Given the description of an element on the screen output the (x, y) to click on. 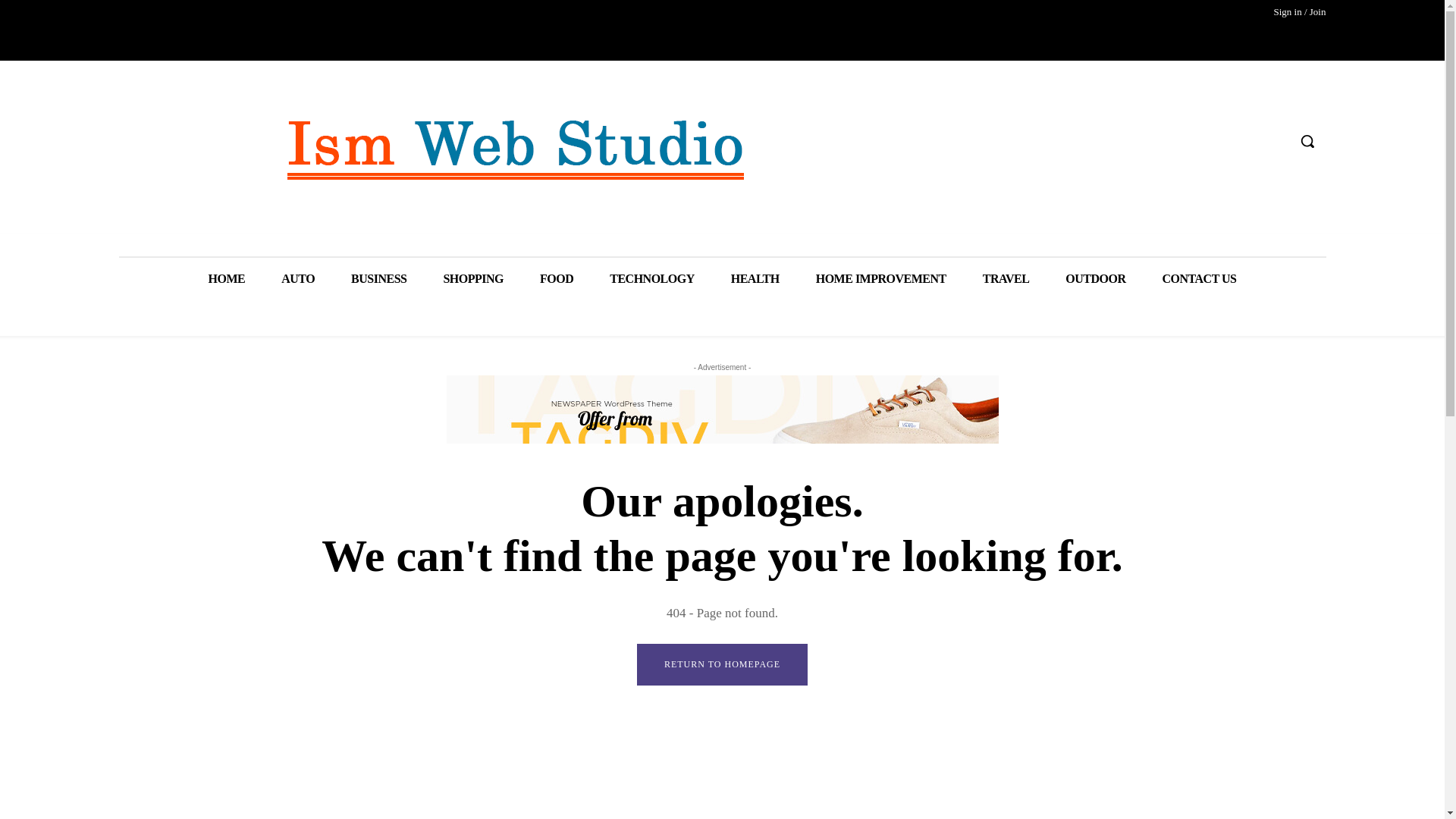
SHOPPING (473, 278)
HOME (226, 278)
FOOD (556, 278)
OUTDOOR (1094, 278)
HOME IMPROVEMENT (880, 278)
AUTO (298, 278)
CONTACT US (1199, 278)
HEALTH (755, 278)
BUSINESS (379, 278)
TECHNOLOGY (651, 278)
TRAVEL (1005, 278)
